Given the description of an element on the screen output the (x, y) to click on. 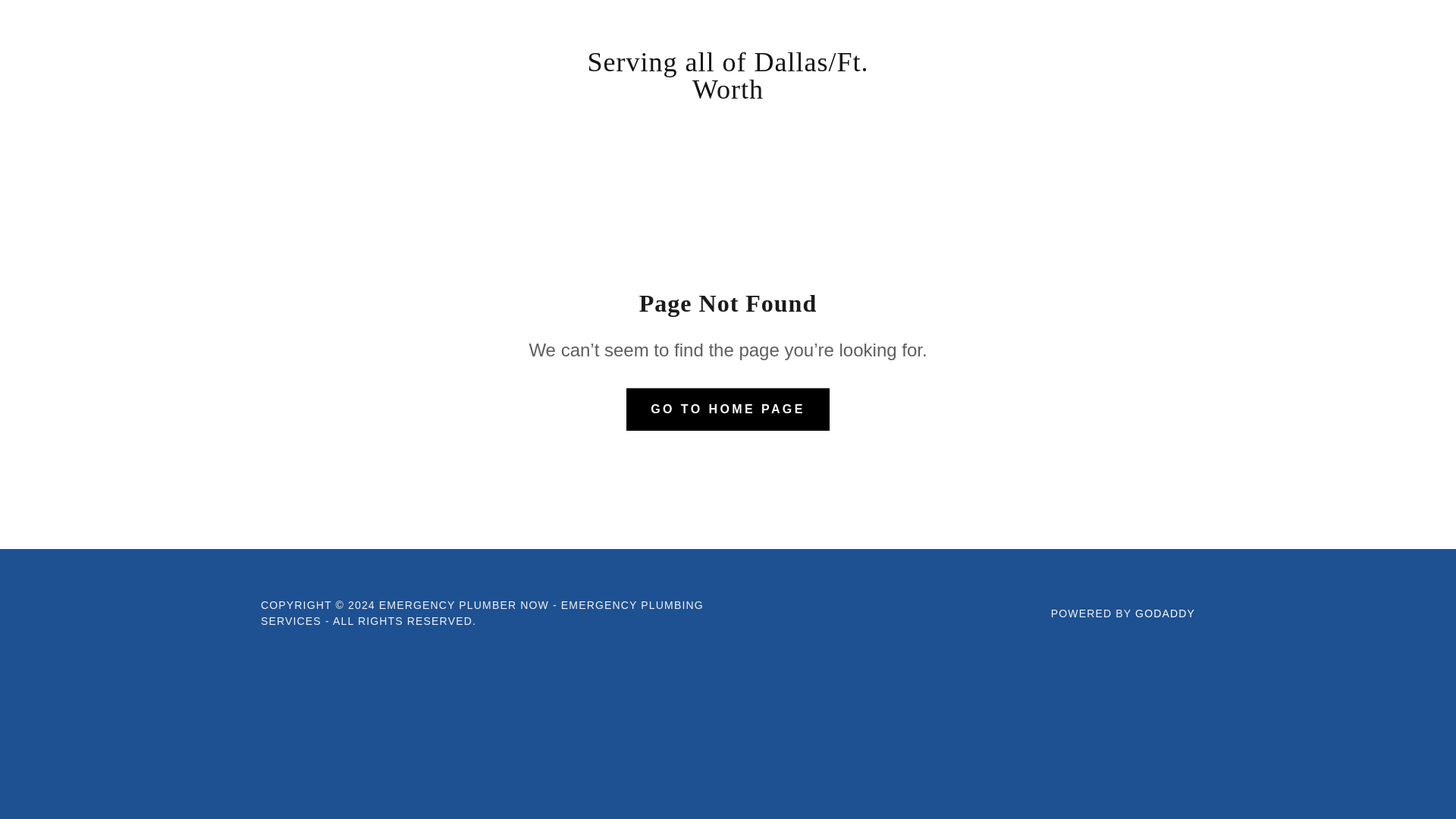
GO TO HOME PAGE (727, 409)
GODADDY (1165, 612)
